Given the description of an element on the screen output the (x, y) to click on. 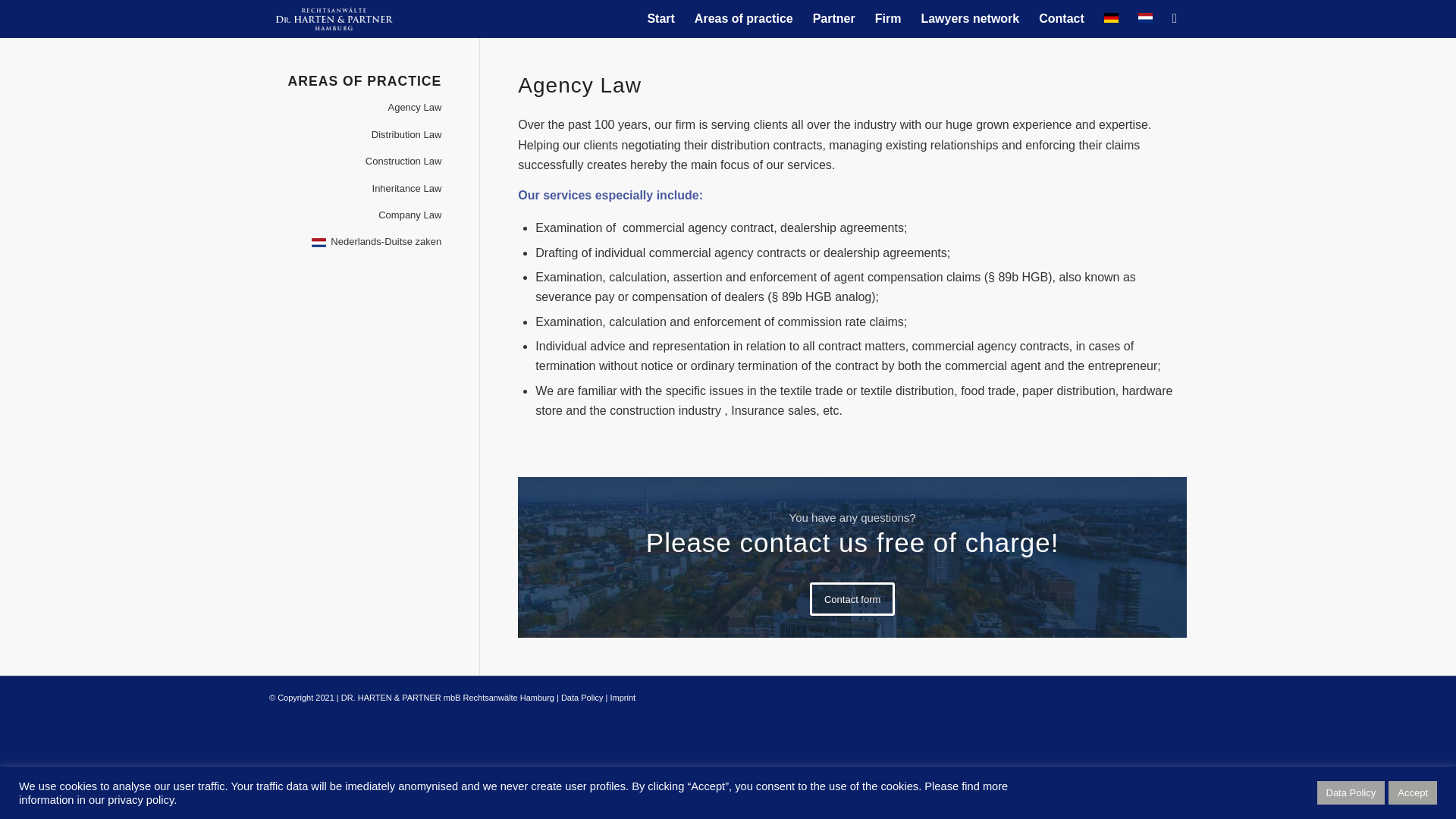
Firm (887, 18)
Contact form (852, 598)
Areas of practice (743, 18)
Contact (1061, 18)
Start (660, 18)
Inheritance Law (355, 189)
Distribution Law (355, 135)
Partner (833, 18)
Agency Law (355, 108)
Imprint (623, 696)
Lawyers network (970, 18)
Company Law (355, 215)
Construction Law (355, 161)
Data Policy (582, 696)
Nederlands-Duitse zaken (355, 242)
